Given the description of an element on the screen output the (x, y) to click on. 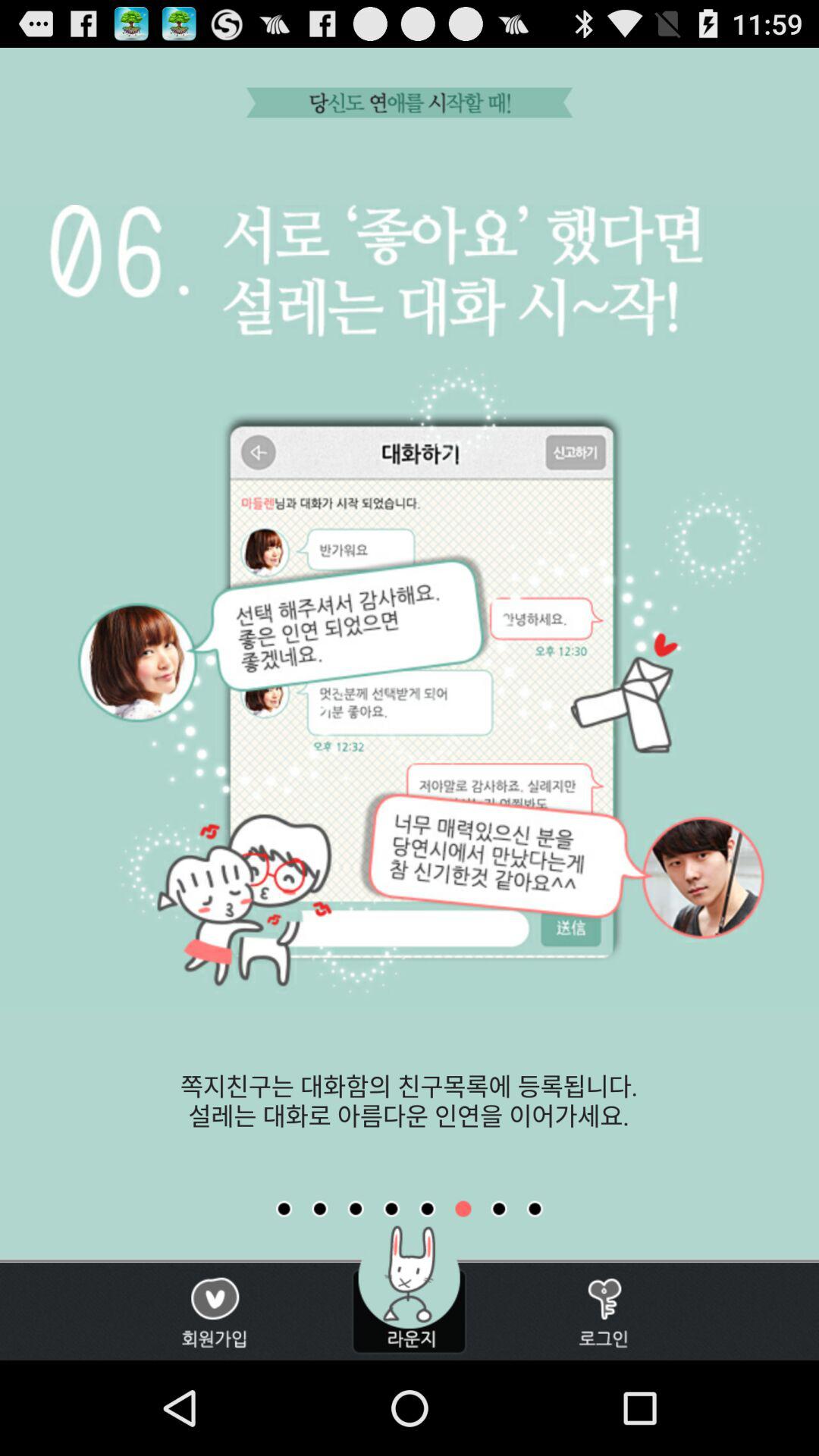
go to page (463, 1208)
